Given the description of an element on the screen output the (x, y) to click on. 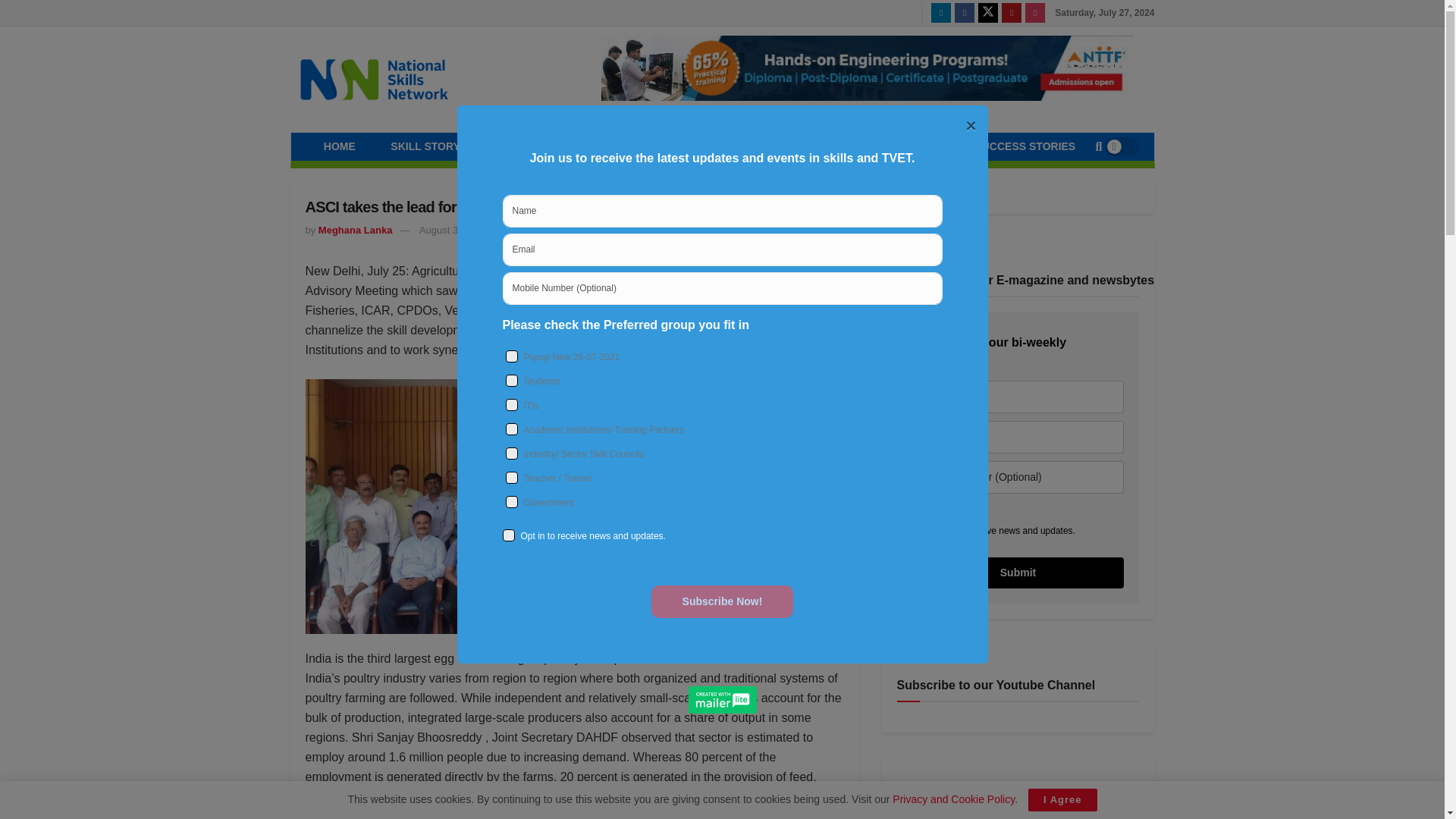
ABOUT US (908, 146)
SKILL STORY (424, 146)
RESOURCES (700, 146)
NEWS (609, 146)
HOME (339, 146)
SKILL TALK (525, 146)
SKILL2JOBS (807, 146)
SUCCESS STORIES (1024, 146)
